Given the description of an element on the screen output the (x, y) to click on. 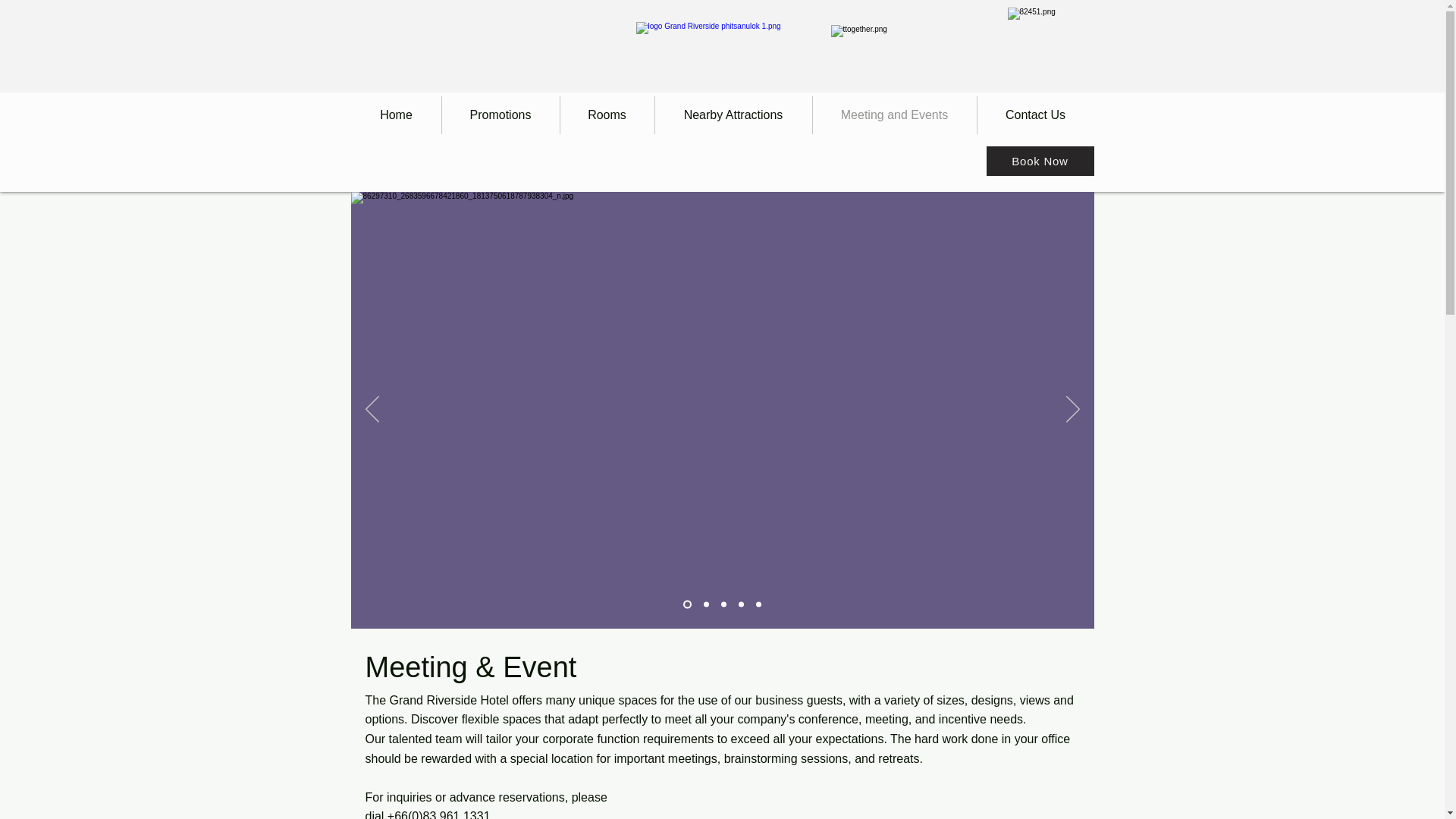
Contact Us (1034, 115)
Nearby Attractions (733, 115)
Home (396, 115)
Meeting and Events (894, 115)
Promotions (500, 115)
Rooms (606, 115)
Book Now (1039, 161)
